Given the description of an element on the screen output the (x, y) to click on. 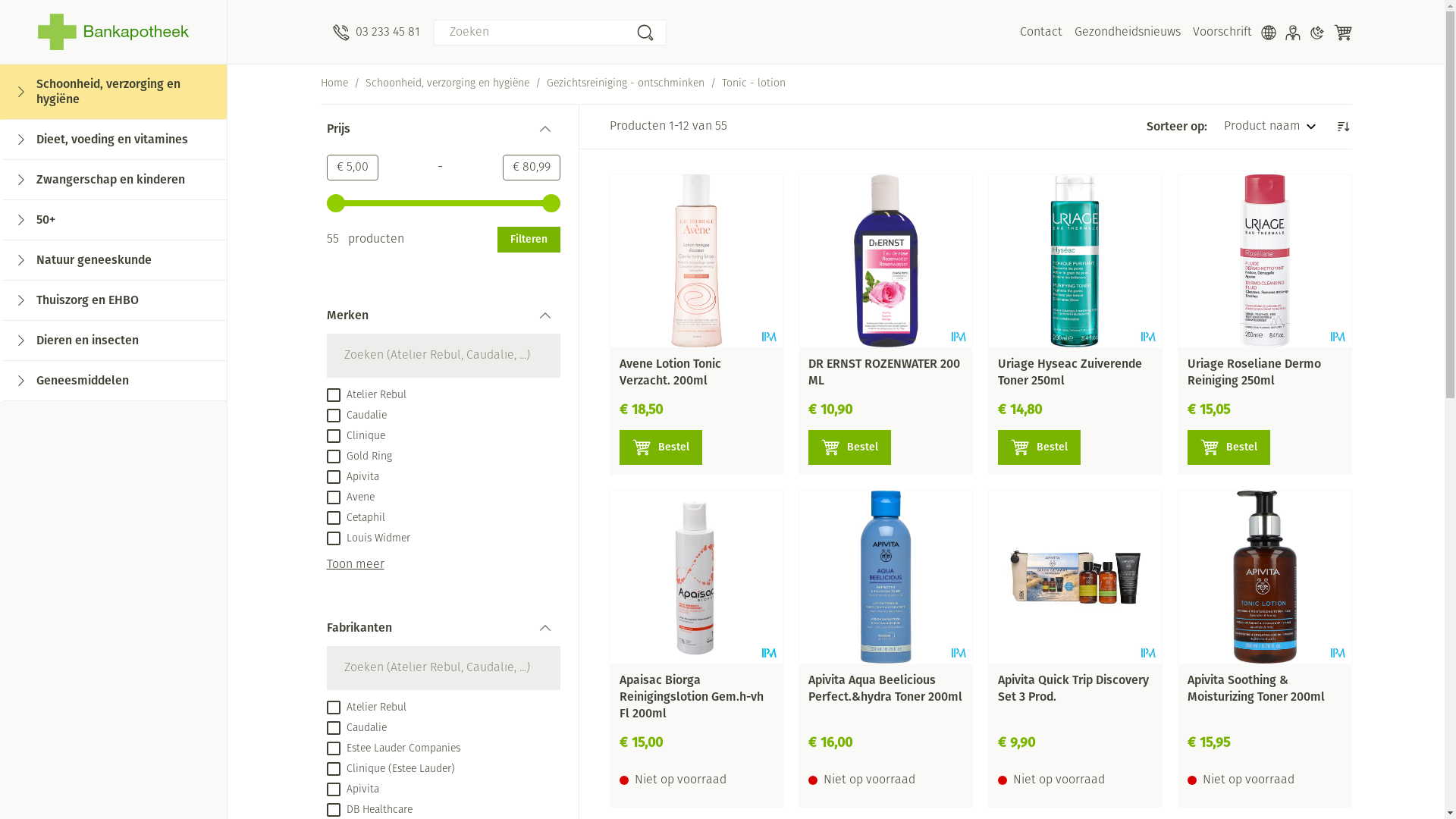
Uriage Hyseac Zuiverende Toner 250ml Element type: hover (1074, 260)
Louis Widmer Element type: text (367, 538)
Natuur geneeskunde Element type: text (114, 260)
Geneesmiddelen Element type: text (114, 380)
Dieren en insecten Element type: text (114, 340)
Talen Element type: text (1267, 32)
Apivita Soothing & Moisturizing Toner 200ml Element type: hover (1264, 576)
Atelier Rebul Element type: text (365, 395)
DR ERNST ROZENWATER 200 ML Element type: hover (885, 260)
Toon meer Element type: text (354, 564)
on Element type: text (332, 415)
Filteren Element type: text (528, 239)
on Element type: text (332, 435)
Uriage Roseliane Dermo Reiniging 250ml Element type: text (1254, 371)
Bankapotheek Element type: hover (112, 31)
on Element type: text (332, 394)
Gezichtsreiniging - ontschminken Element type: text (624, 83)
on Element type: text (332, 748)
Estee Lauder Companies Element type: text (392, 748)
Bankapotheek Element type: hover (113, 31)
Bestel Element type: text (849, 446)
Atelier Rebul Element type: text (365, 707)
03 233 45 81 Element type: text (375, 32)
on Element type: text (332, 768)
Bestel Element type: text (1038, 446)
Caudalie Element type: text (355, 415)
Apivita Element type: text (352, 789)
Avene Lotion Tonic Verzacht. 200ml Element type: text (669, 371)
Gezondheidsnieuws Element type: text (1126, 32)
Apivita Element type: text (352, 476)
Caudalie Element type: text (355, 727)
Apivita Quick Trip Discovery Set 3 Prod. Element type: hover (1074, 576)
on Element type: text (332, 727)
Gold Ring Element type: text (358, 456)
on Element type: text (332, 538)
Apaisac Biorga Reinigingslotion Gem.h-vh Fl 200ml Element type: hover (695, 576)
50+ Element type: text (114, 220)
Bestel Element type: text (1228, 446)
DB Healthcare Element type: text (368, 809)
Uriage Hyseac Zuiverende Toner 250ml Element type: text (1069, 371)
Aflopende richting instellen Element type: hover (1342, 126)
Klant menu Element type: text (1291, 32)
on Element type: text (332, 707)
Dieet, voeding en vitamines Element type: text (114, 139)
DR ERNST ROZENWATER 200 ML Element type: text (884, 371)
Clinique (Estee Lauder) Element type: text (390, 768)
Voorschrift Element type: text (1221, 32)
Home Element type: text (333, 83)
Contact Element type: text (1040, 32)
Zwangerschap en kinderen Element type: text (114, 180)
Cetaphil Element type: text (355, 517)
Uriage Roseliane Dermo Reiniging 250ml Element type: hover (1264, 260)
Apivita Aqua Beelicious Perfect.&hydra Toner 200ml Element type: text (885, 686)
Clinique Element type: text (355, 435)
Thuiszorg en EHBO Element type: text (114, 300)
on Element type: text (332, 809)
on Element type: text (332, 456)
Bestel Element type: text (659, 446)
Avene Lotion Tonic Verzacht. 200ml Element type: hover (695, 260)
Apaisac Biorga Reinigingslotion Gem.h-vh Fl 200ml Element type: text (690, 695)
Winkelwagen Element type: text (1342, 32)
Apivita Soothing & Moisturizing Toner 200ml Element type: text (1255, 686)
Apivita Quick Trip Discovery Set 3 Prod. Element type: text (1072, 686)
Zoeken Element type: text (644, 32)
on Element type: text (332, 476)
on Element type: text (332, 497)
Donkere modus Element type: text (1316, 32)
on Element type: text (332, 789)
Avene Element type: text (349, 497)
on Element type: text (332, 517)
Apivita Aqua Beelicious Perfect.&hydra Toner 200ml Element type: hover (885, 576)
